Given the description of an element on the screen output the (x, y) to click on. 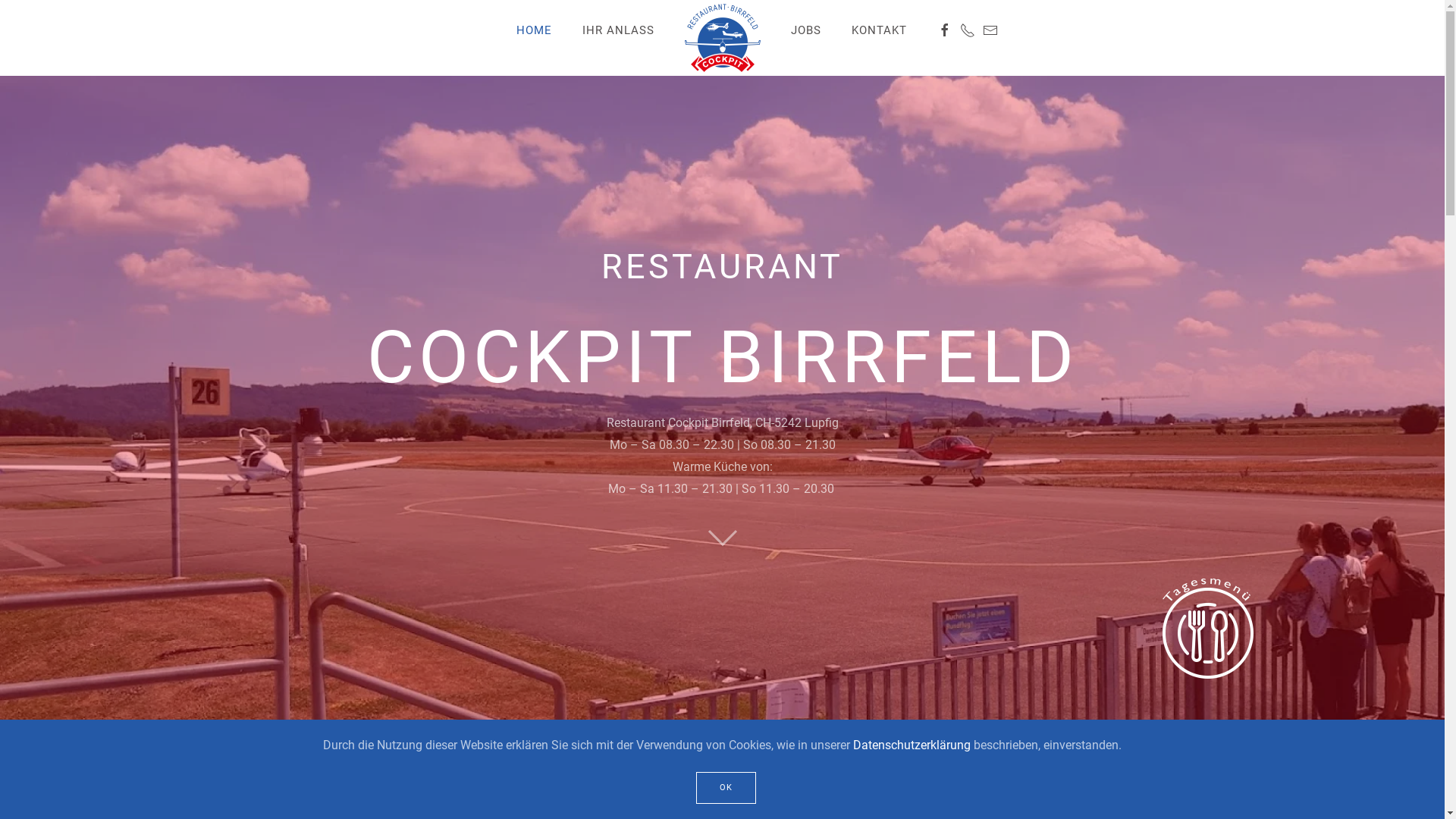
HOME Element type: text (533, 30)
IHR ANLASS Element type: text (618, 30)
KONTAKT Element type: text (878, 30)
JOBS Element type: text (805, 30)
OK Element type: text (726, 787)
